Given the description of an element on the screen output the (x, y) to click on. 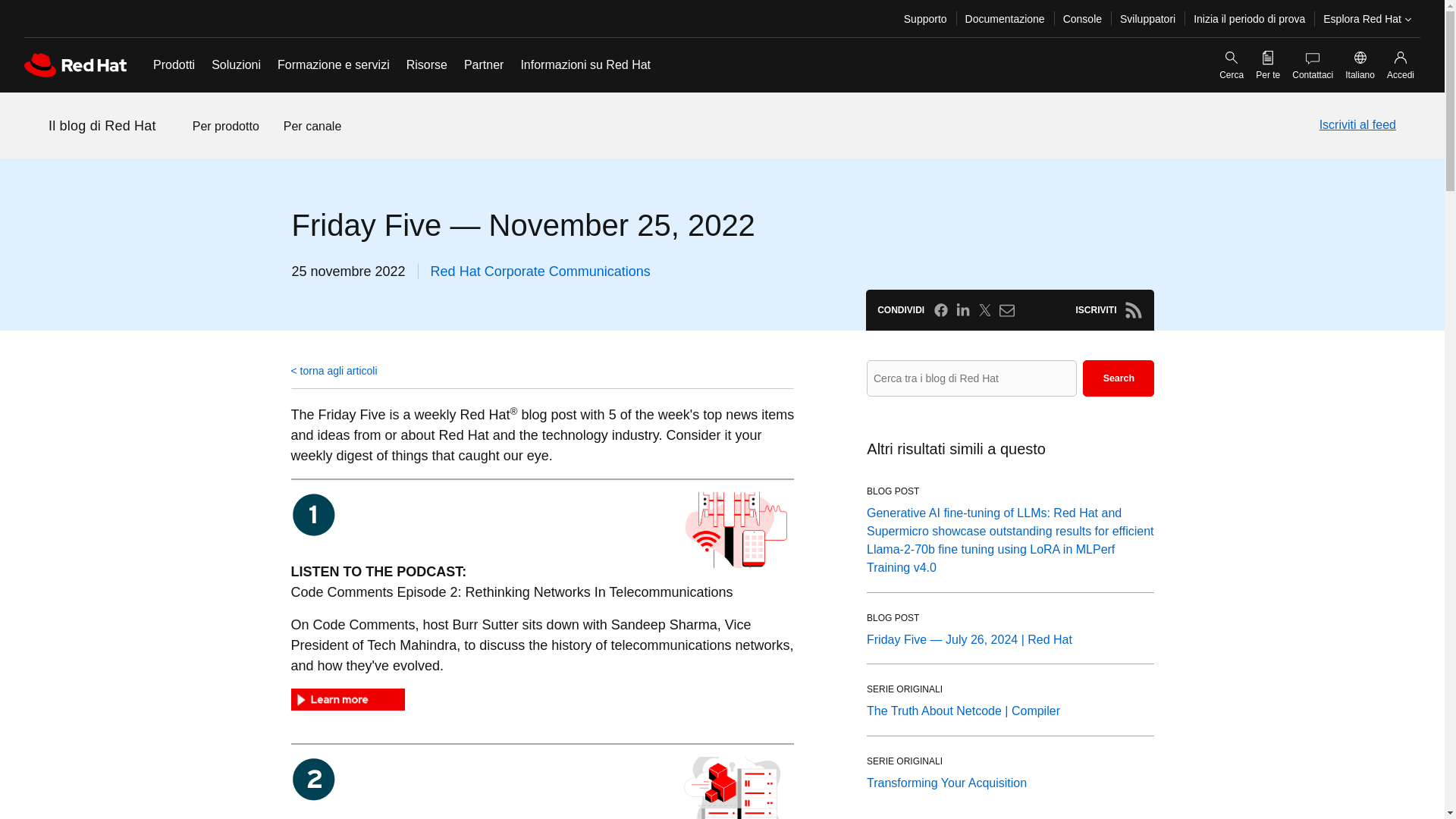
Iscriviti (1132, 310)
Supporto (925, 18)
Console (1082, 18)
Sviluppatori (1147, 18)
See more by Red Hat Corporate Communications (540, 271)
Inizia il periodo di prova (1249, 18)
Iscriviti al feed (1357, 125)
Documentazione (1005, 18)
Esplora Red Hat (1367, 18)
